Given the description of an element on the screen output the (x, y) to click on. 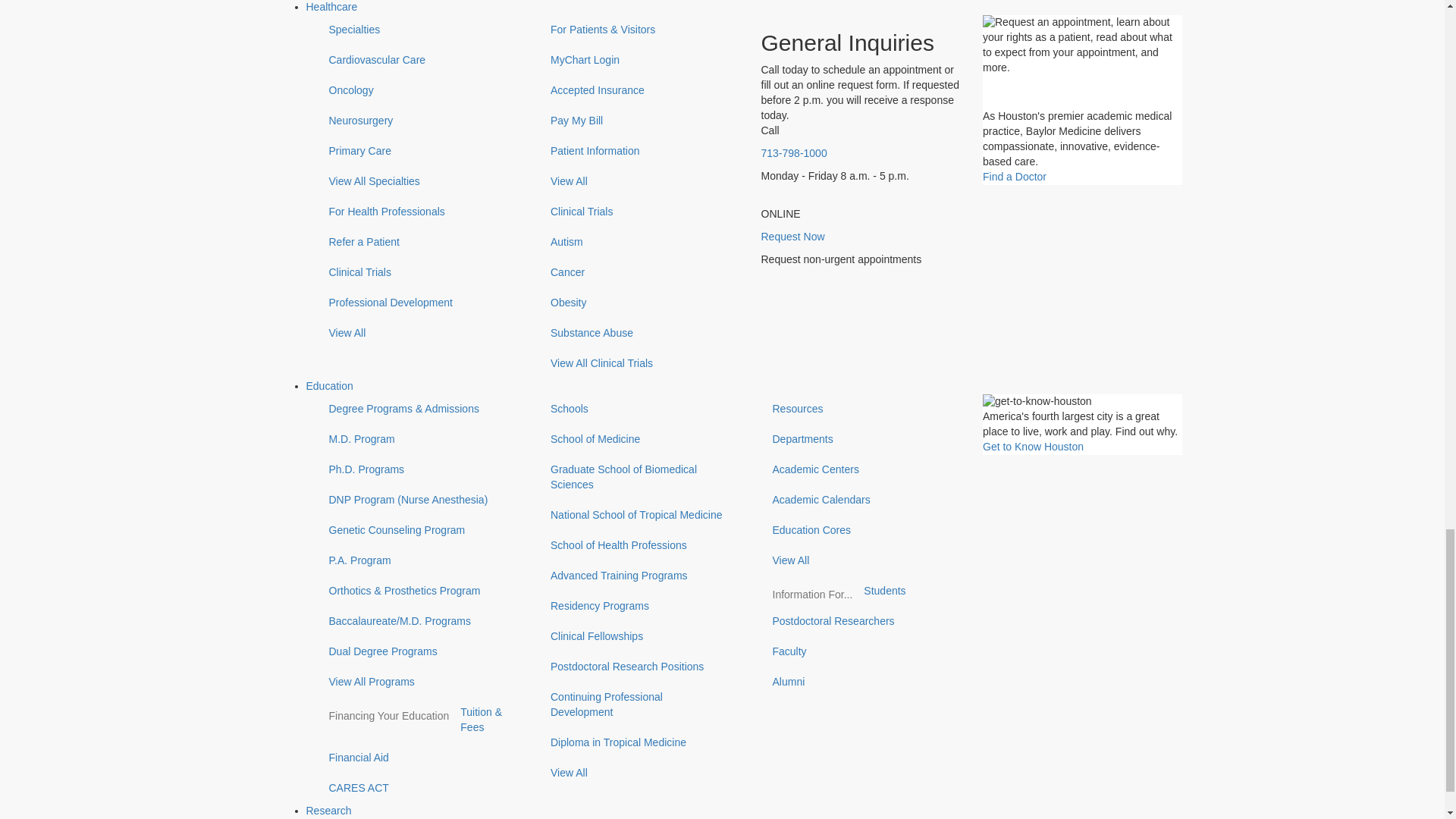
twitter (429, 556)
instagram (376, 556)
facebook (317, 556)
